Given the description of an element on the screen output the (x, y) to click on. 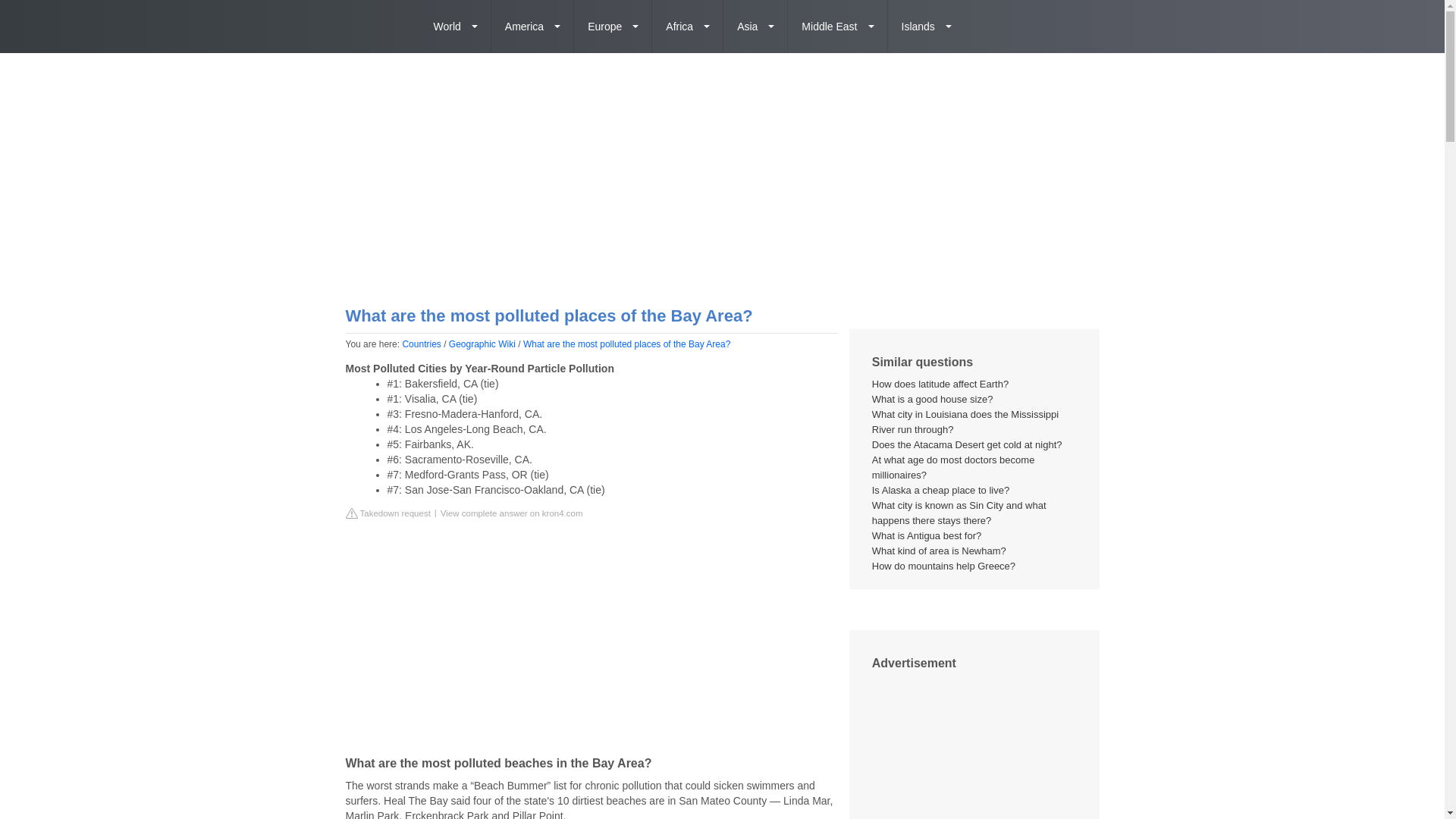
World (456, 26)
Europe (612, 26)
America (532, 26)
